Given the description of an element on the screen output the (x, y) to click on. 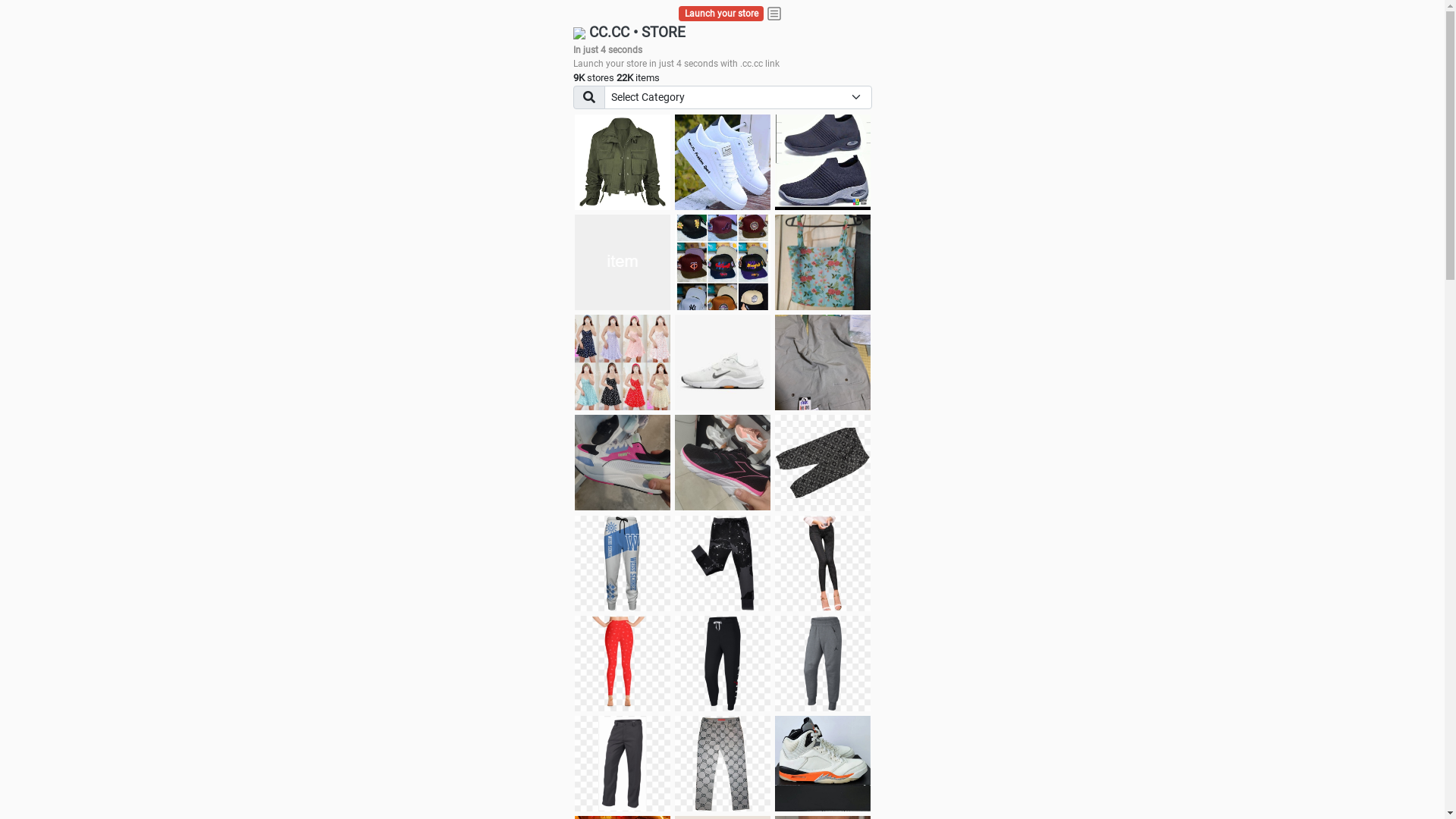
Dress/square nect top Element type: hover (622, 362)
Pant Element type: hover (622, 663)
Pant Element type: hover (622, 563)
Things we need Element type: hover (722, 262)
Zapatillas Element type: hover (722, 462)
Launch your store Element type: text (721, 13)
shoes for boys Element type: hover (822, 162)
Pant Element type: hover (722, 763)
Pant Element type: hover (722, 563)
Pant Element type: hover (822, 563)
Pant Element type: hover (822, 663)
jacket Element type: hover (622, 162)
Ukay cloth Element type: hover (822, 262)
Zapatillas pumas Element type: hover (622, 462)
Shoes for boys Element type: hover (622, 262)
Pant Element type: hover (622, 763)
Pant Element type: hover (722, 663)
Shoe Element type: hover (822, 763)
Short pant Element type: hover (822, 462)
white shoes Element type: hover (722, 162)
Shoes Element type: hover (722, 362)
